Given the description of an element on the screen output the (x, y) to click on. 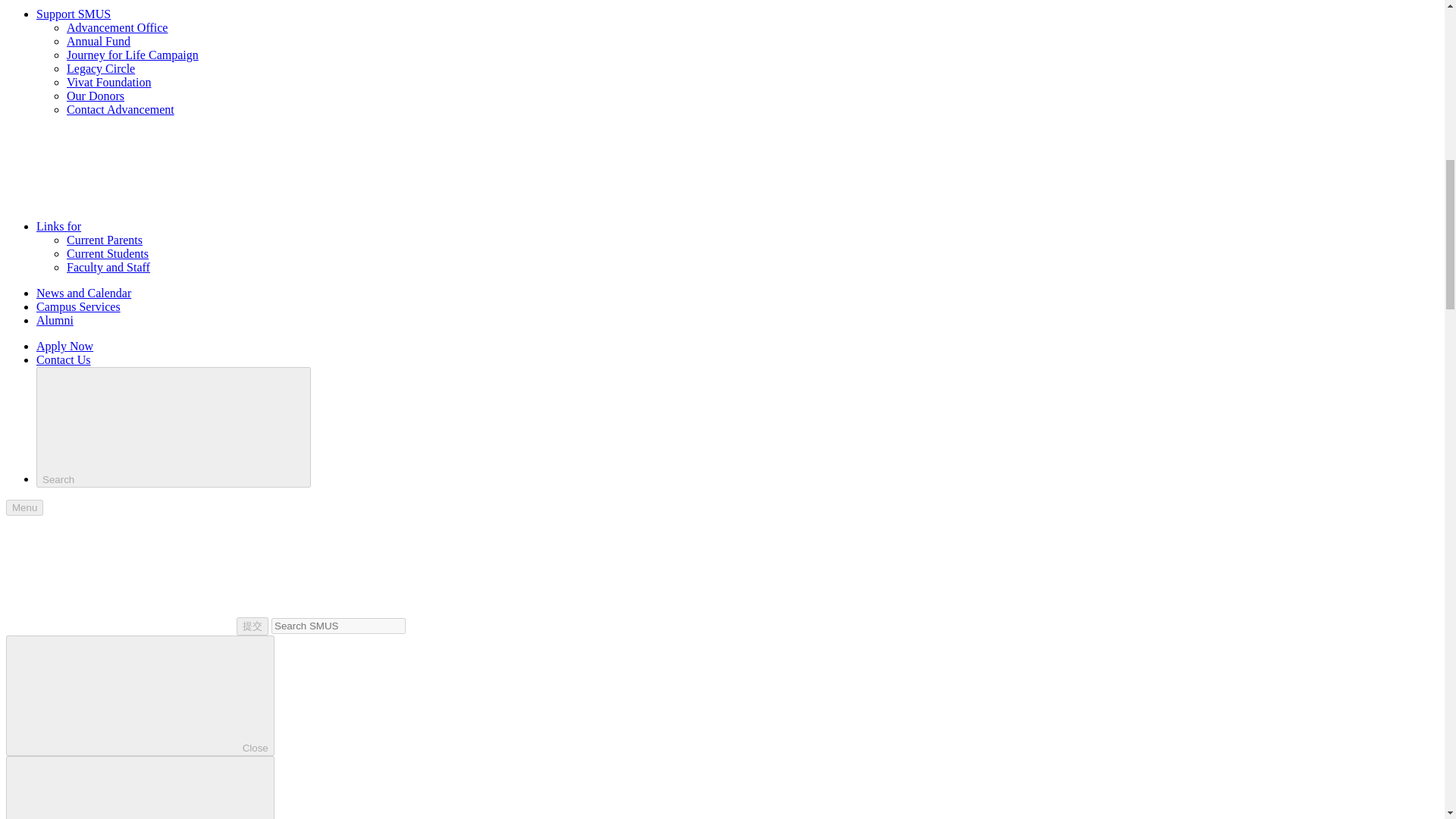
Journey for Life Campaign (132, 54)
Advancement Office (116, 27)
Current Students (107, 253)
Alumni (55, 319)
Legacy Circle (100, 68)
News and Calendar (83, 292)
Vivat Foundation (108, 82)
Support SMUS (73, 13)
Faculty and Staff (107, 267)
Campus Services (78, 306)
